Given the description of an element on the screen output the (x, y) to click on. 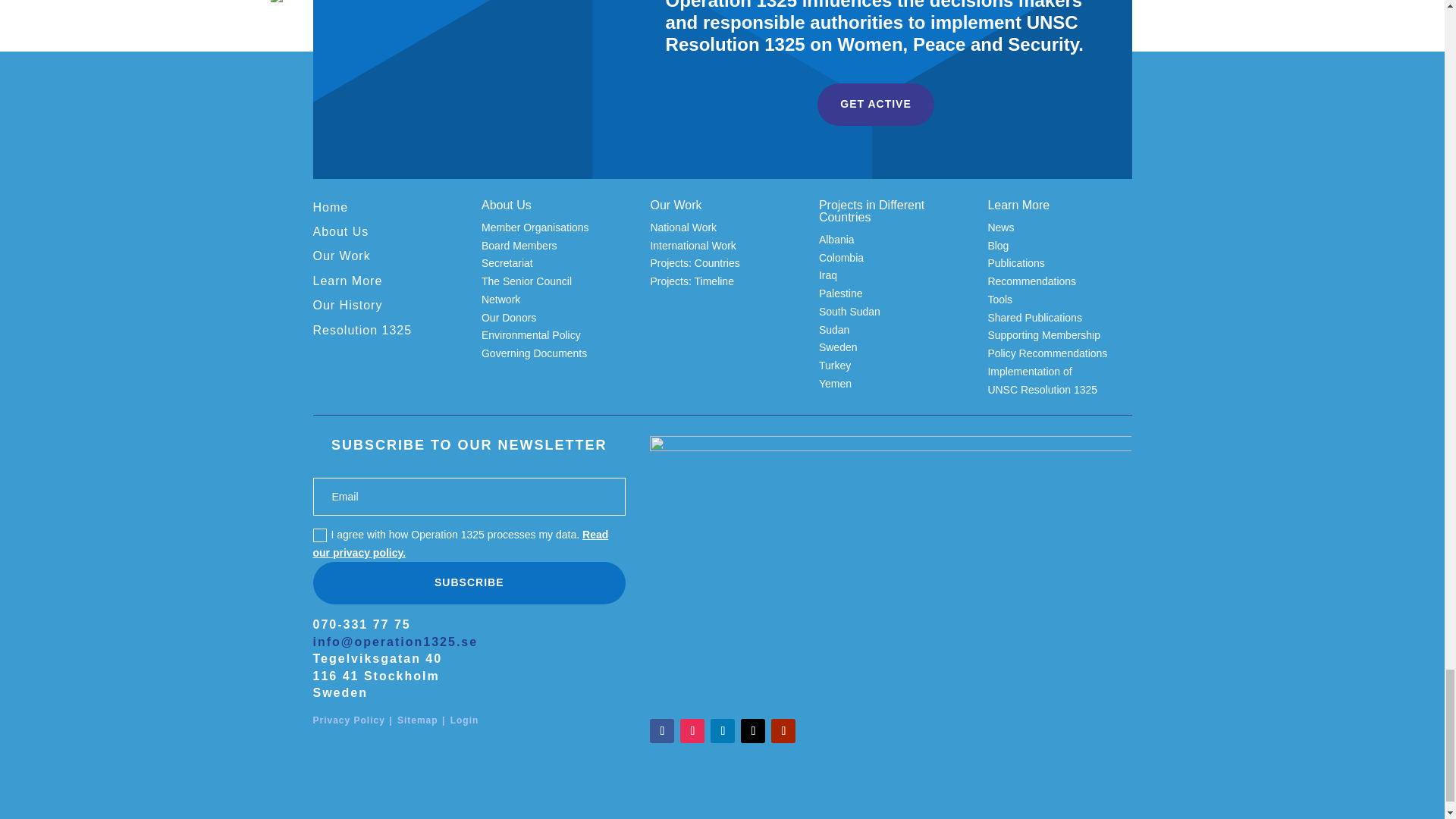
Donation-till-nyhetsbrev-ENG (890, 570)
Home (330, 206)
GET ACTIVE (875, 104)
Follow on Facebook (661, 730)
Follow on LinkedIn (722, 730)
Follow on Instagram (691, 730)
Follow on X (753, 730)
